Given the description of an element on the screen output the (x, y) to click on. 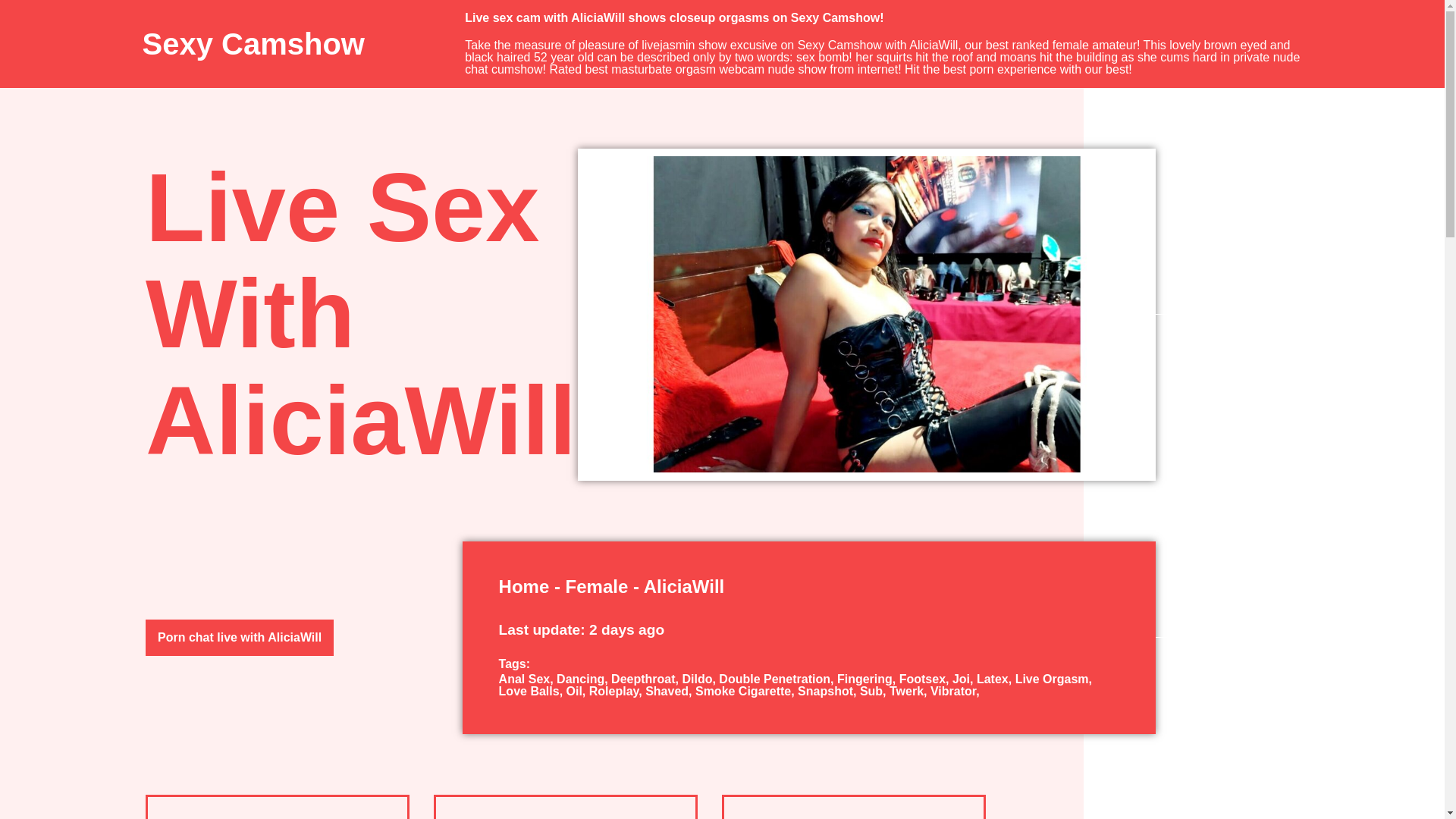
Latex (995, 678)
Love Balls (532, 690)
Latex (995, 678)
Vibrator (954, 690)
Sub (874, 690)
Home (524, 586)
Sexy Camshow (253, 43)
Dildo (700, 678)
Dancing (583, 678)
Roleplay (617, 690)
